Given the description of an element on the screen output the (x, y) to click on. 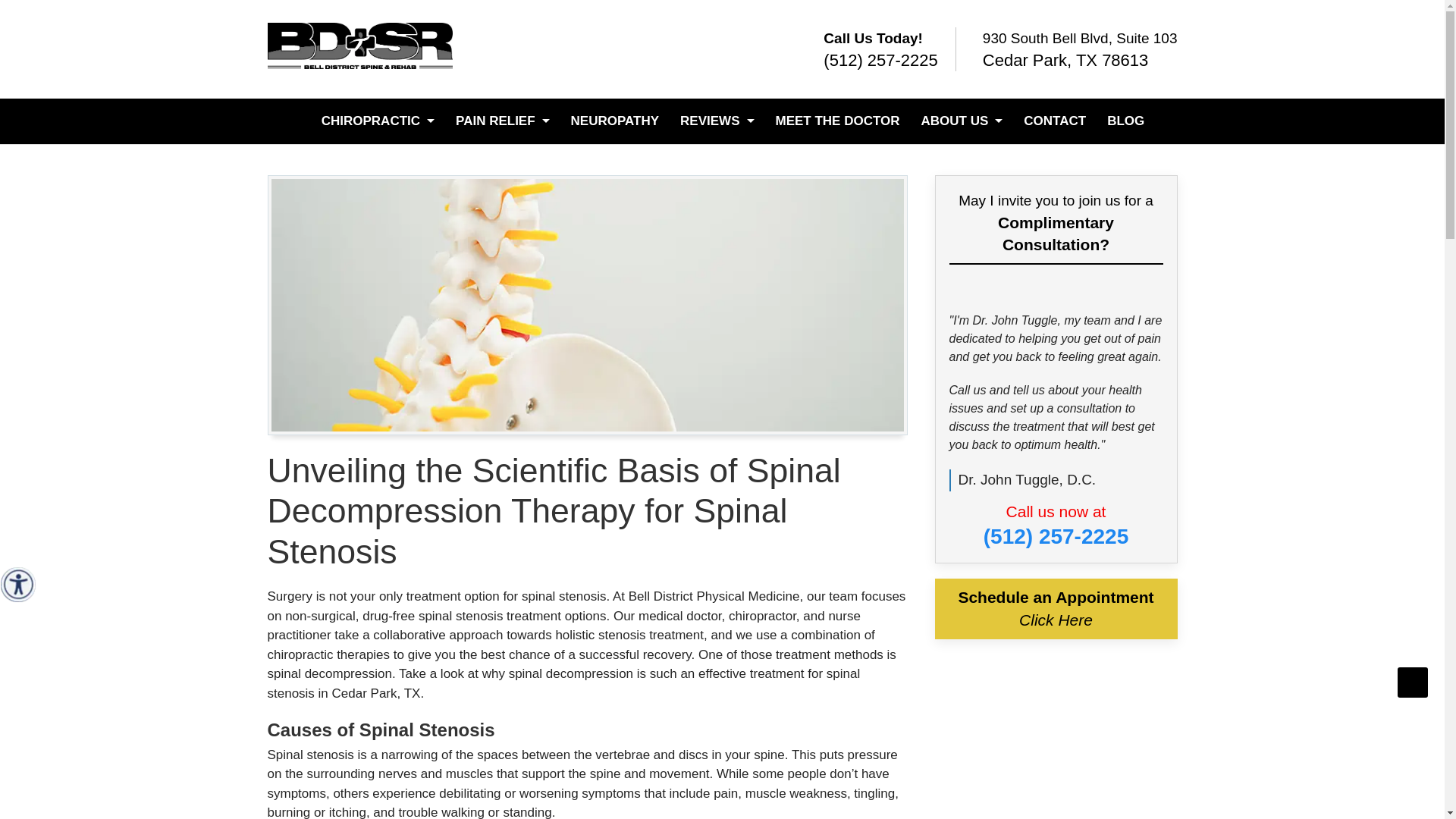
CHIROPRACTIC (378, 121)
Accessibility Helper sidebar (18, 584)
ABOUT US (962, 121)
Home (358, 45)
MEET THE DOCTOR (837, 121)
Back to the Top (1412, 682)
REVIEWS (716, 121)
NEUROPATHY (614, 121)
PAIN RELIEF (502, 121)
